Given the description of an element on the screen output the (x, y) to click on. 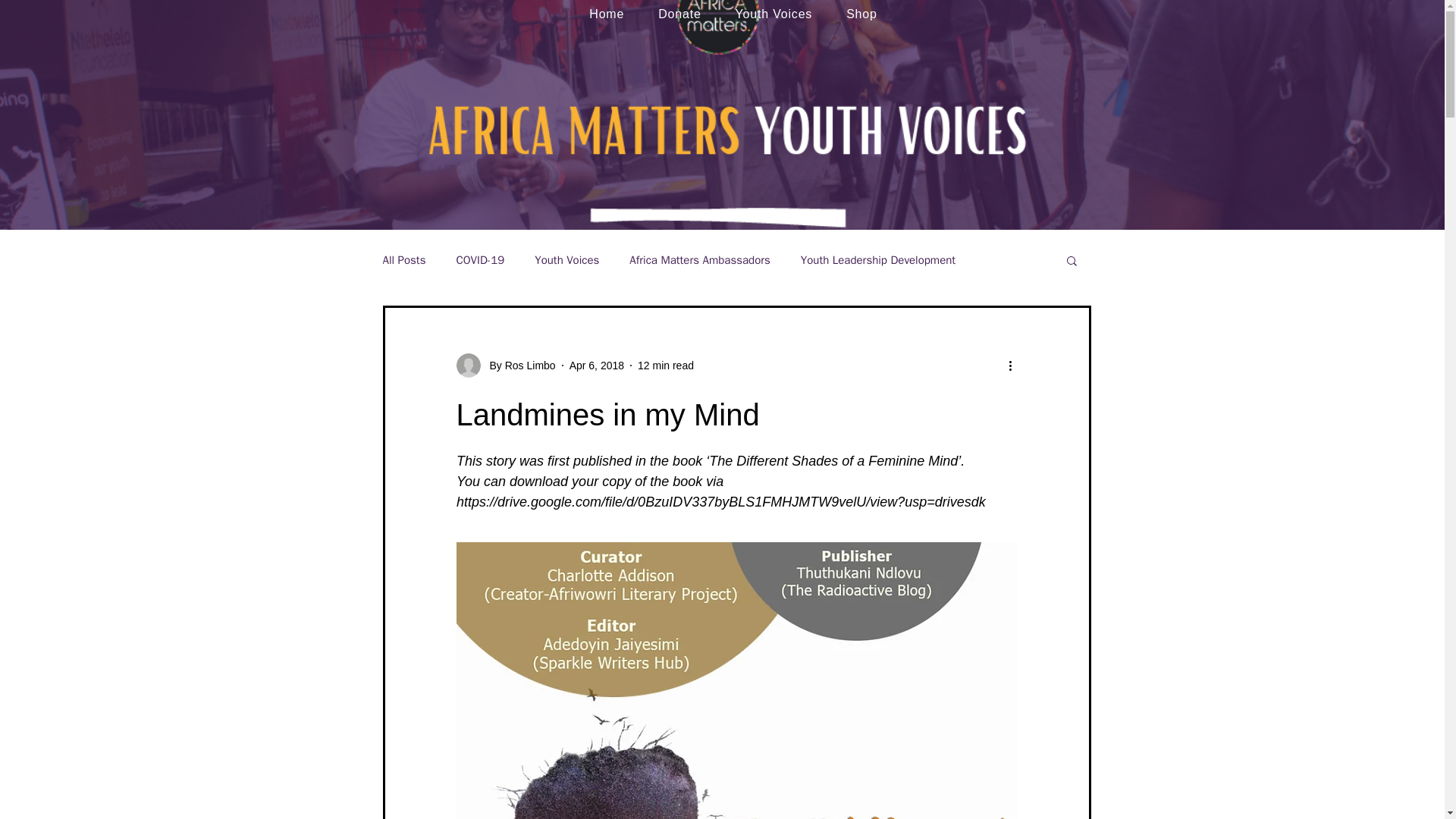
Apr 6, 2018 (596, 365)
All Posts (403, 260)
Youth Voices (566, 260)
Youth Leadership Development (877, 260)
Shop (861, 14)
Africa Matters Ambassadors (699, 260)
Youth Voices (774, 14)
12 min read (665, 365)
By Ros Limbo (518, 365)
By Ros Limbo (506, 364)
Home (605, 14)
COVID-19 (479, 260)
Donate (678, 14)
